Given the description of an element on the screen output the (x, y) to click on. 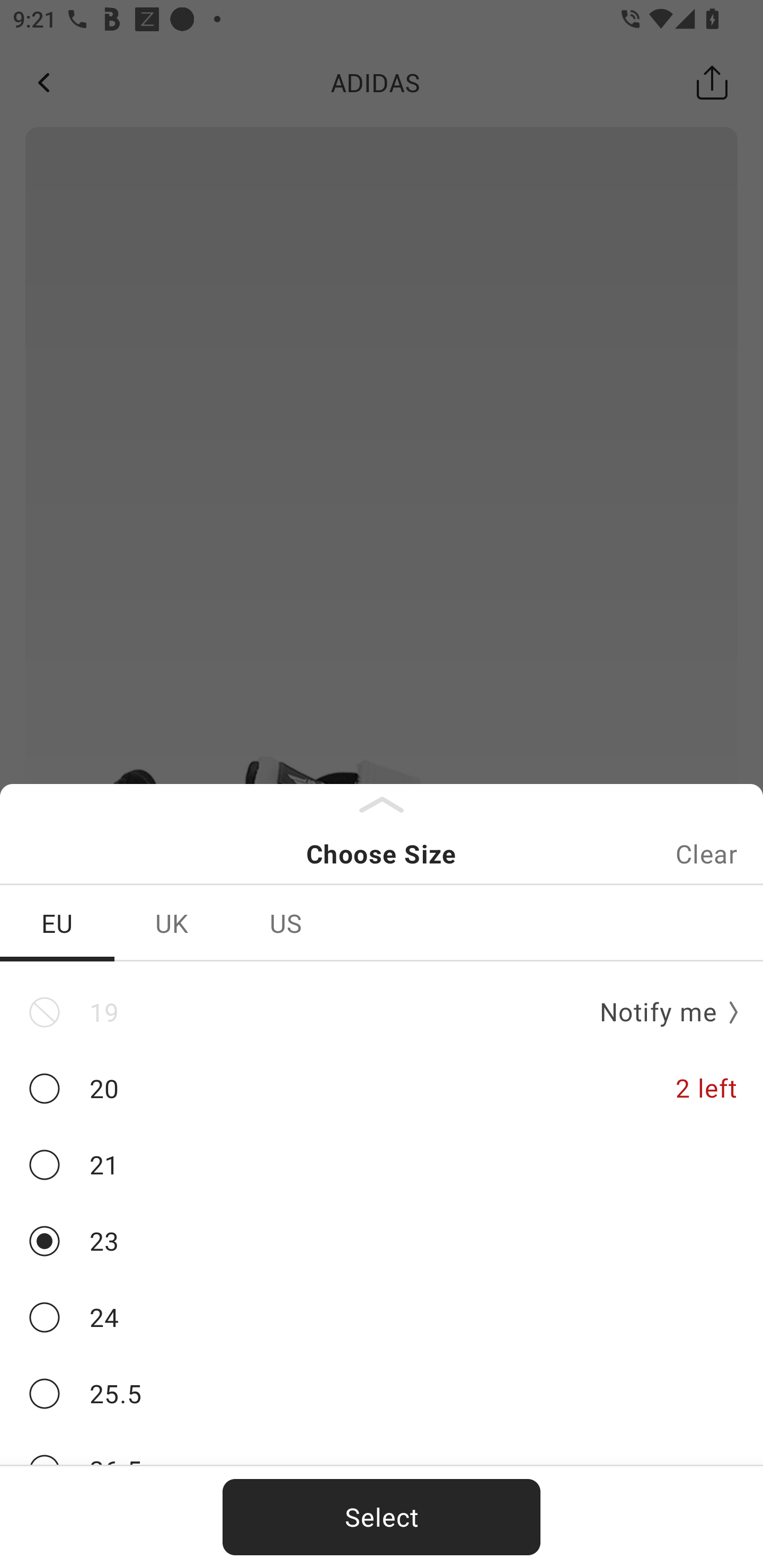
Clear (706, 852)
UK (171, 923)
US (285, 923)
19 Notify me (381, 1011)
Notify me (661, 1012)
20 2 left (381, 1088)
21 (381, 1164)
23 (381, 1240)
24 (381, 1317)
25.5 (381, 1393)
Select (381, 1516)
